Given the description of an element on the screen output the (x, y) to click on. 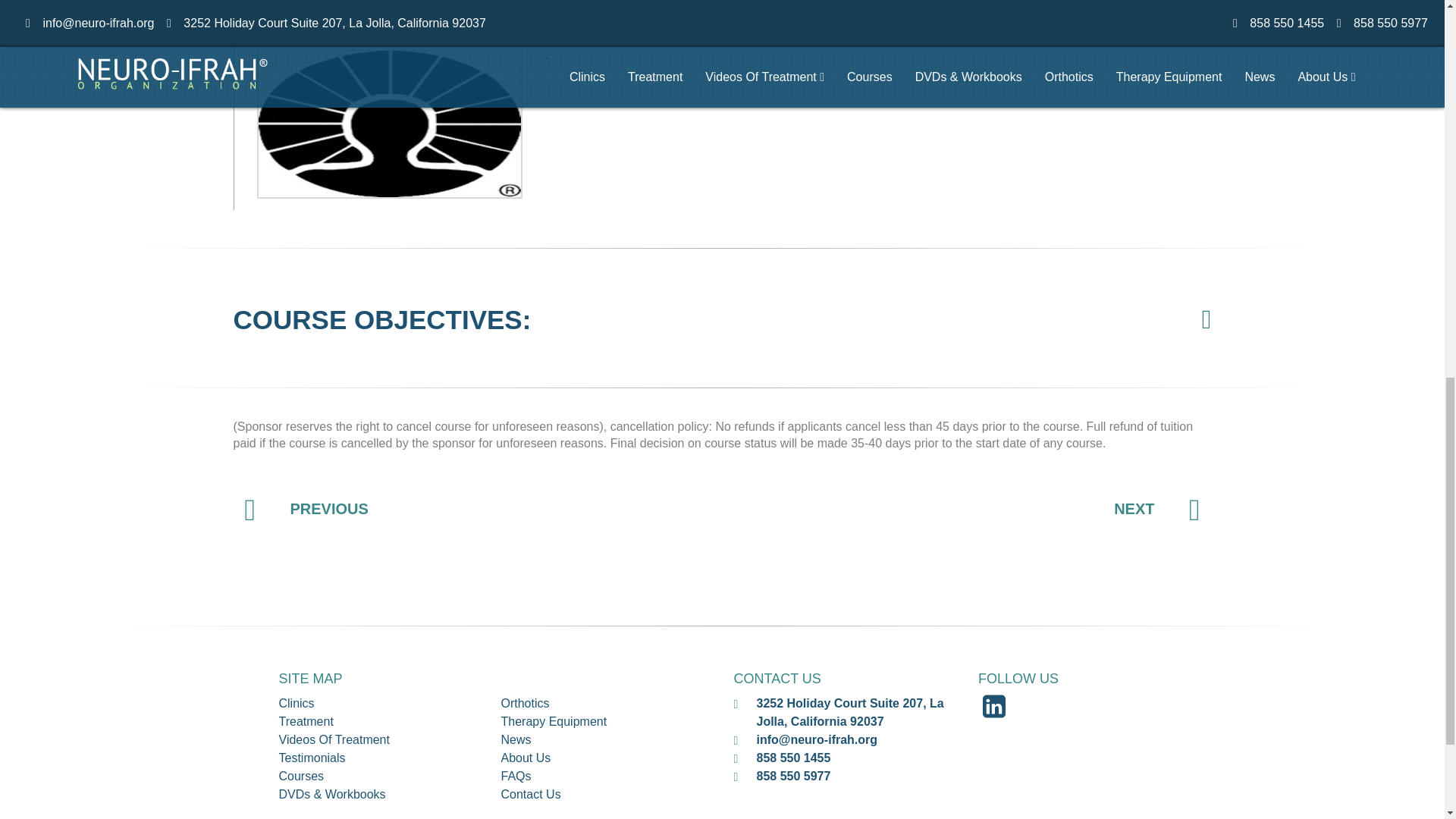
858 550 1455 (794, 757)
FAQs (515, 775)
COURSE OBJECTIVES: (381, 319)
NEXT (1156, 508)
Testimonials (312, 757)
Orthotics (524, 703)
Therapy Equipment (553, 721)
858 550 5977 (794, 775)
News (515, 739)
PREVIOUS (306, 508)
Videos Of Treatment (334, 739)
Courses (301, 775)
About Us (525, 757)
Contact Us (530, 793)
Clinics (296, 703)
